Given the description of an element on the screen output the (x, y) to click on. 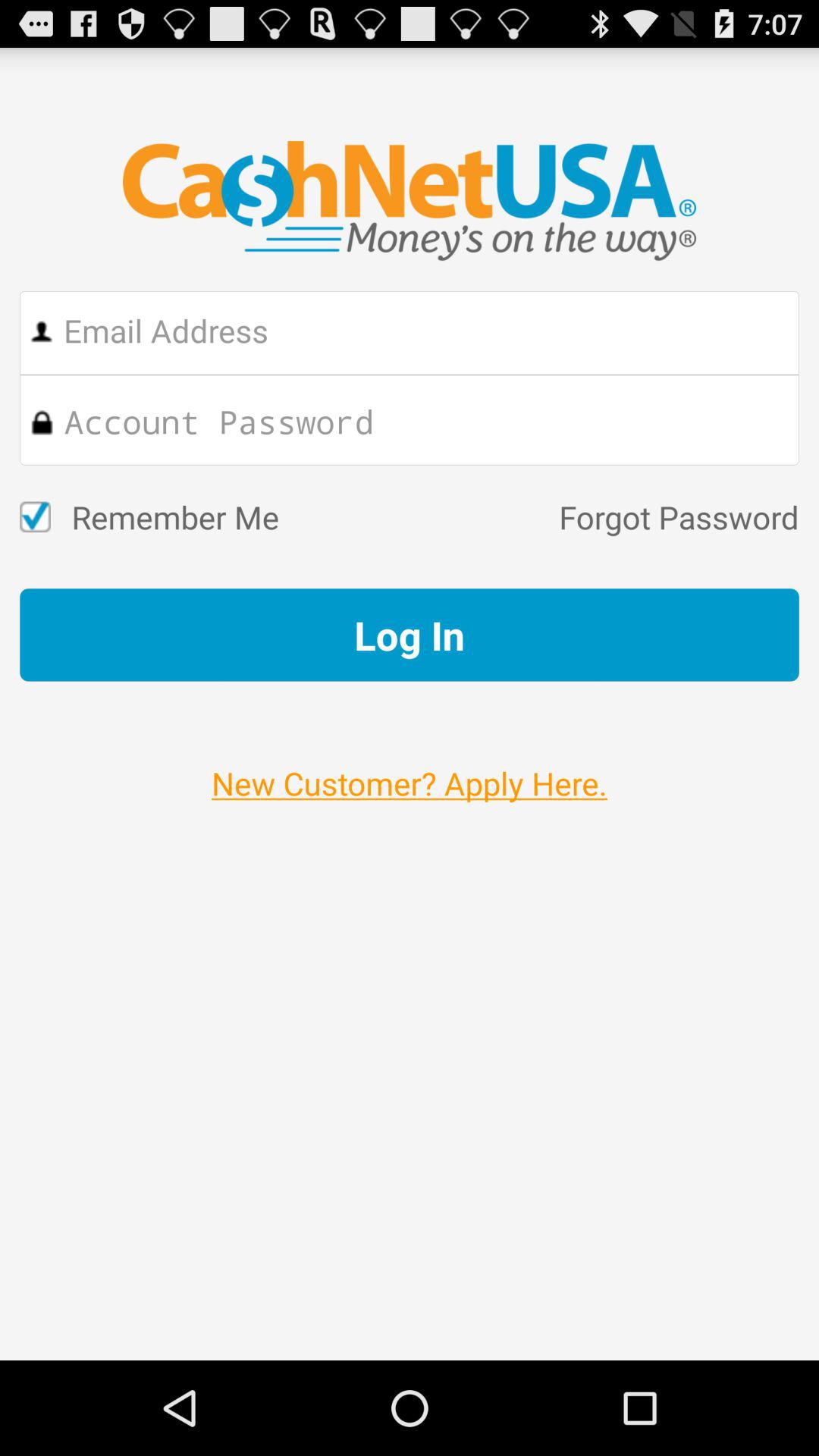
flip until the forgot password app (539, 516)
